Given the description of an element on the screen output the (x, y) to click on. 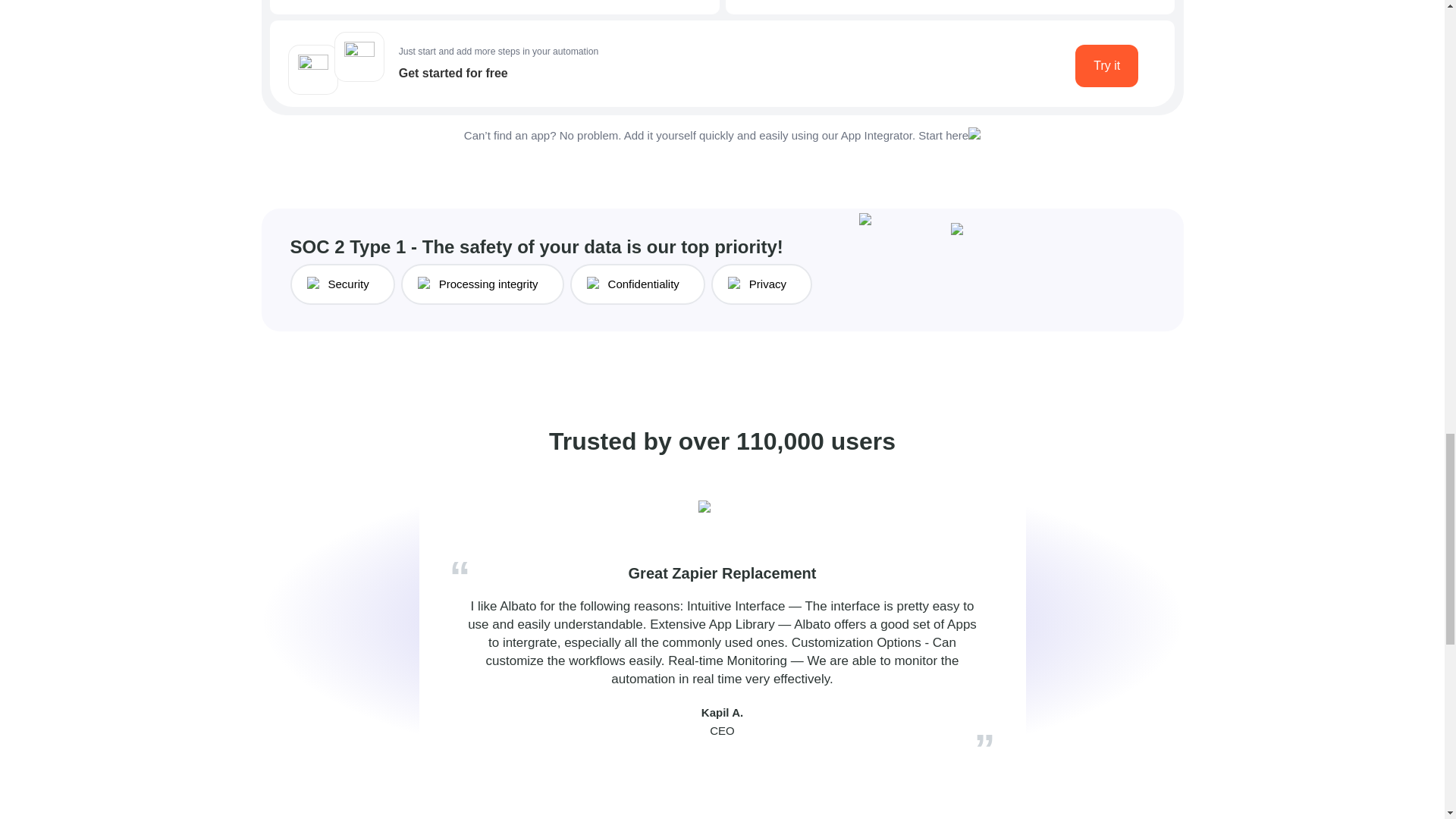
Try it (1106, 65)
Start here (943, 134)
Try it (1106, 65)
